Given the description of an element on the screen output the (x, y) to click on. 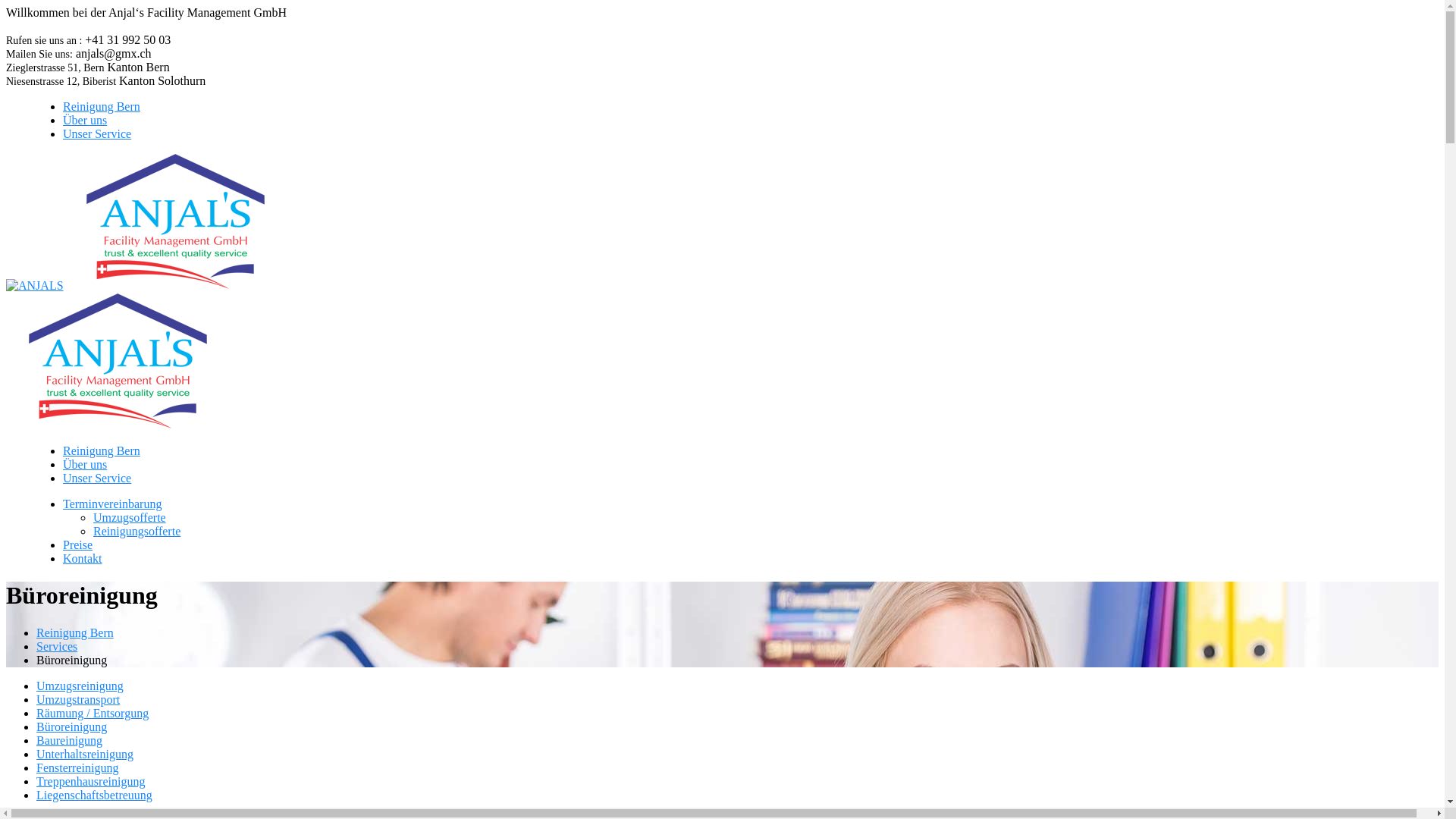
Fensterreinigung Element type: text (77, 767)
Kontakt Element type: text (82, 558)
Treppenhausreinigung Element type: text (90, 781)
Umzugsreinigung Element type: text (79, 685)
Unser Service Element type: text (96, 133)
ANJALS Element type: hover (34, 285)
Unser Service Element type: text (96, 477)
Reinigung Bern Element type: text (74, 632)
Umzugsofferte Element type: text (129, 517)
Terminvereinbarung Element type: text (111, 503)
Services Element type: text (56, 646)
ANJALS Element type: hover (177, 285)
Baureinigung Element type: text (69, 740)
Liegenschaftsbetreuung Element type: text (94, 794)
Reinigung Bern Element type: text (101, 450)
Reinigung Bern Element type: text (101, 106)
Umzugstransport Element type: text (77, 699)
Unterhaltsreinigung Element type: text (84, 753)
Reinigungsofferte Element type: text (136, 530)
Preise Element type: text (77, 544)
